Given the description of an element on the screen output the (x, y) to click on. 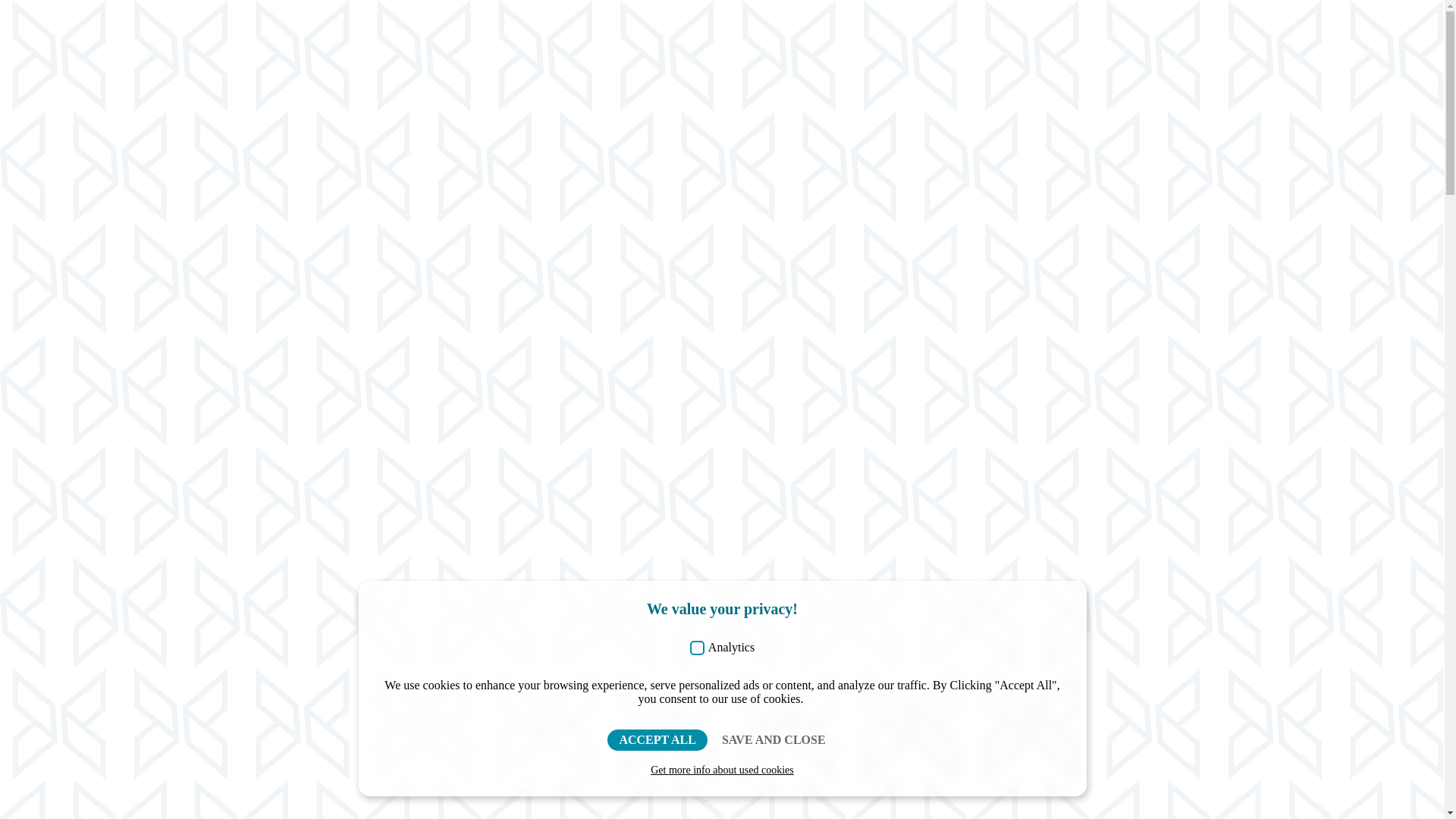
Administrator (476, 748)
CAREER (811, 33)
EN (1402, 33)
BLOG (889, 33)
CONTACT (971, 33)
English (1402, 33)
ABOUT US (721, 33)
